Given the description of an element on the screen output the (x, y) to click on. 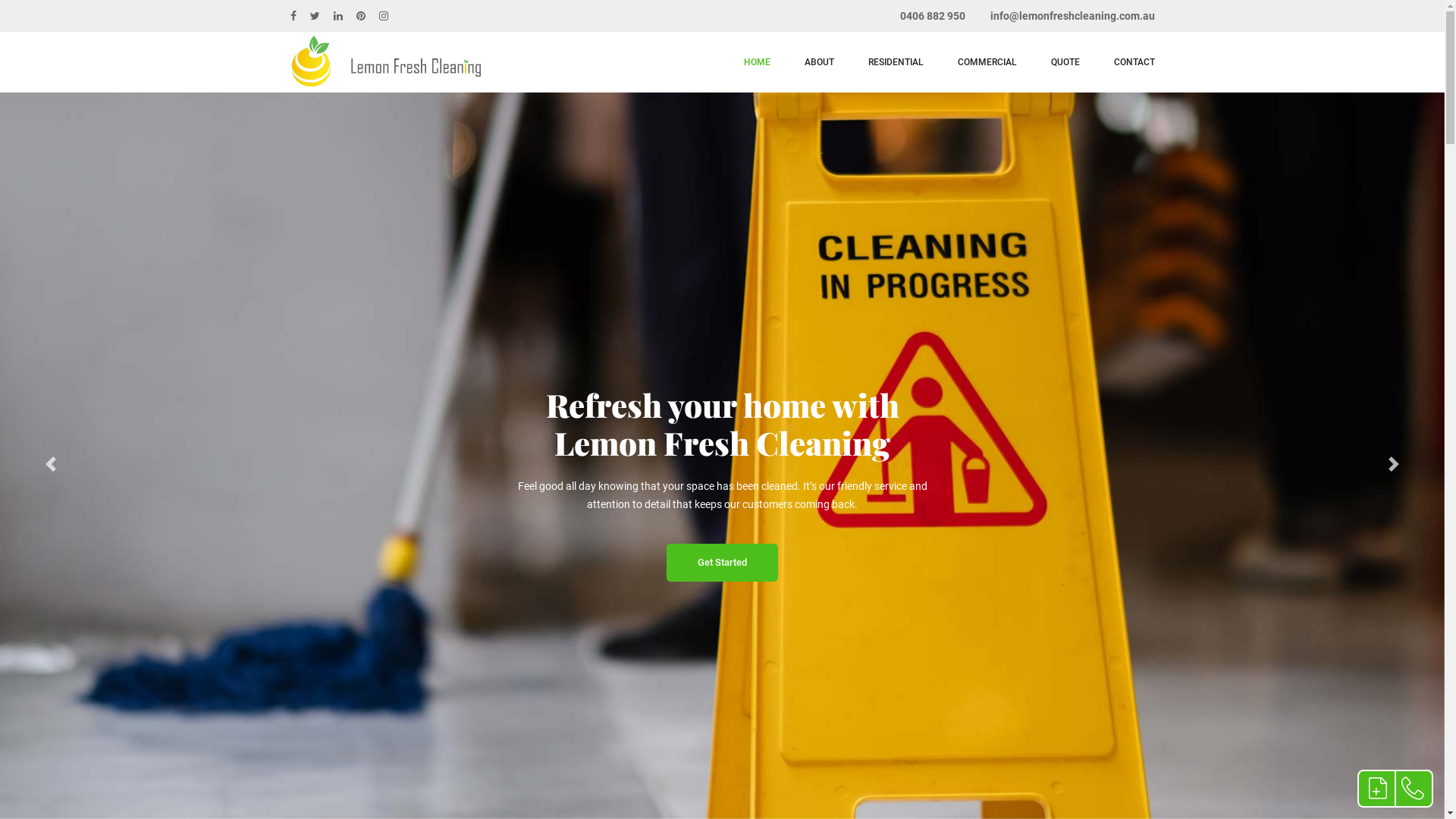
info@lemonfreshcleaning.com.au Element type: text (1072, 15)
QUOTE Element type: text (1065, 61)
CONTACT Element type: text (1133, 61)
RESIDENTIAL Element type: text (894, 61)
COMMERCIAL Element type: text (986, 61)
HOME Element type: text (756, 61)
Get Started Element type: text (722, 562)
0406 882 950 Element type: text (931, 15)
ABOUT Element type: text (818, 61)
Lemon Fresh Cleaning Element type: hover (384, 61)
